Given the description of an element on the screen output the (x, y) to click on. 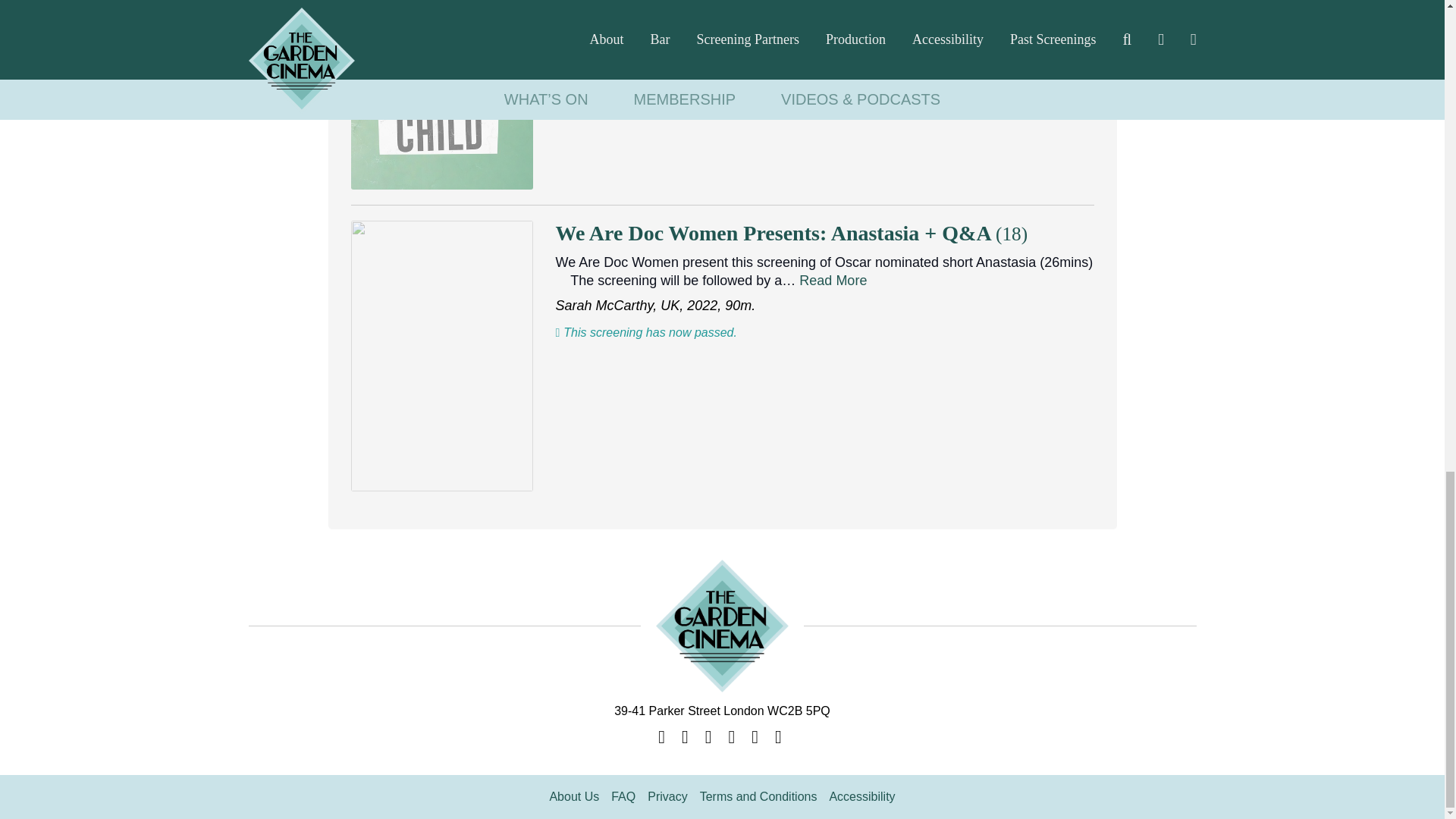
Twitter (687, 738)
Newsletter (780, 738)
Instagram (710, 738)
Facebook (733, 738)
Contact Us (663, 738)
